Given the description of an element on the screen output the (x, y) to click on. 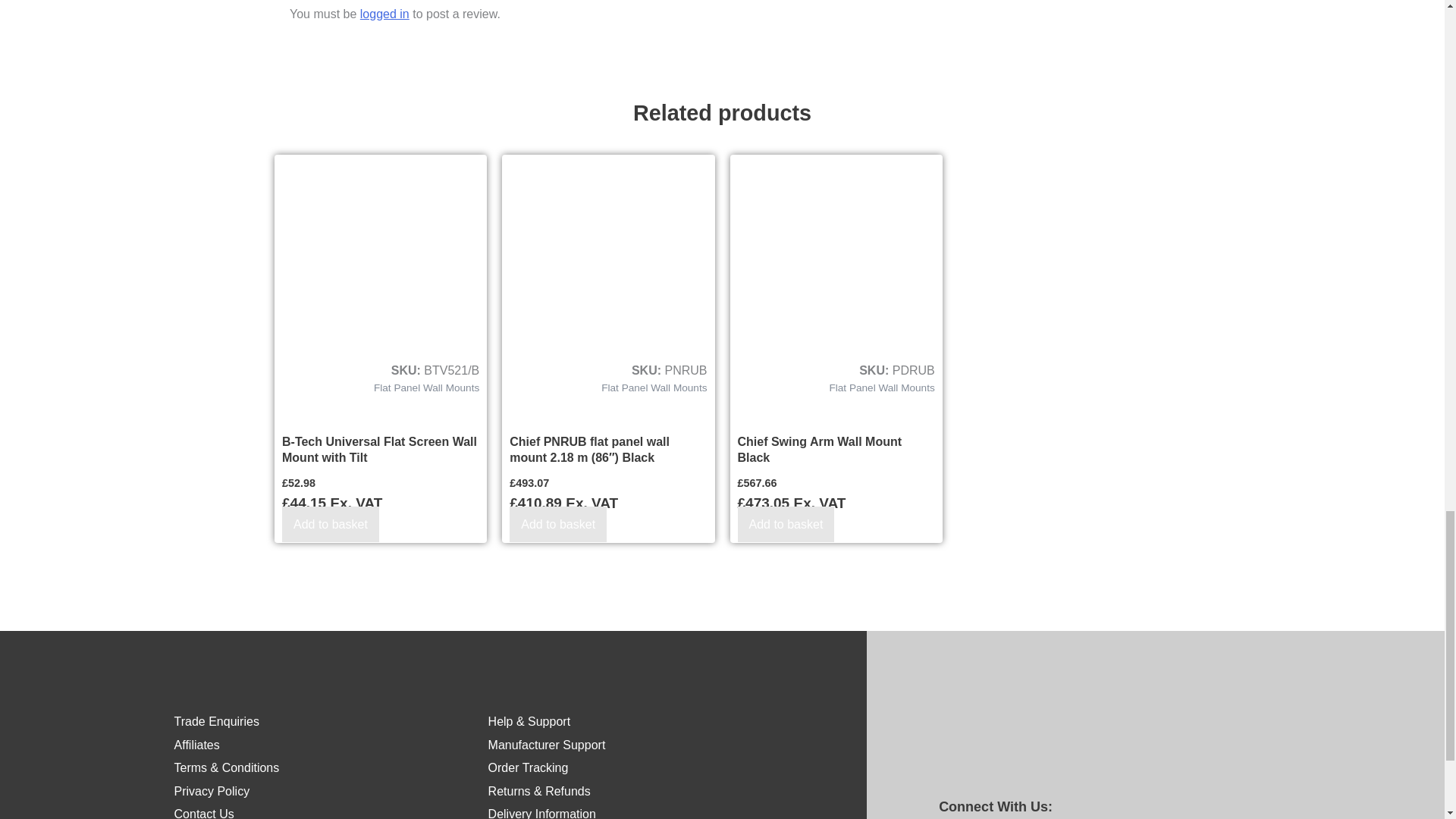
Trade Enquiries (216, 721)
Affiliates (196, 744)
Manufacturer Support (546, 744)
Contact Us (204, 813)
Order Tracking (528, 767)
Privacy Policy (212, 790)
